Given the description of an element on the screen output the (x, y) to click on. 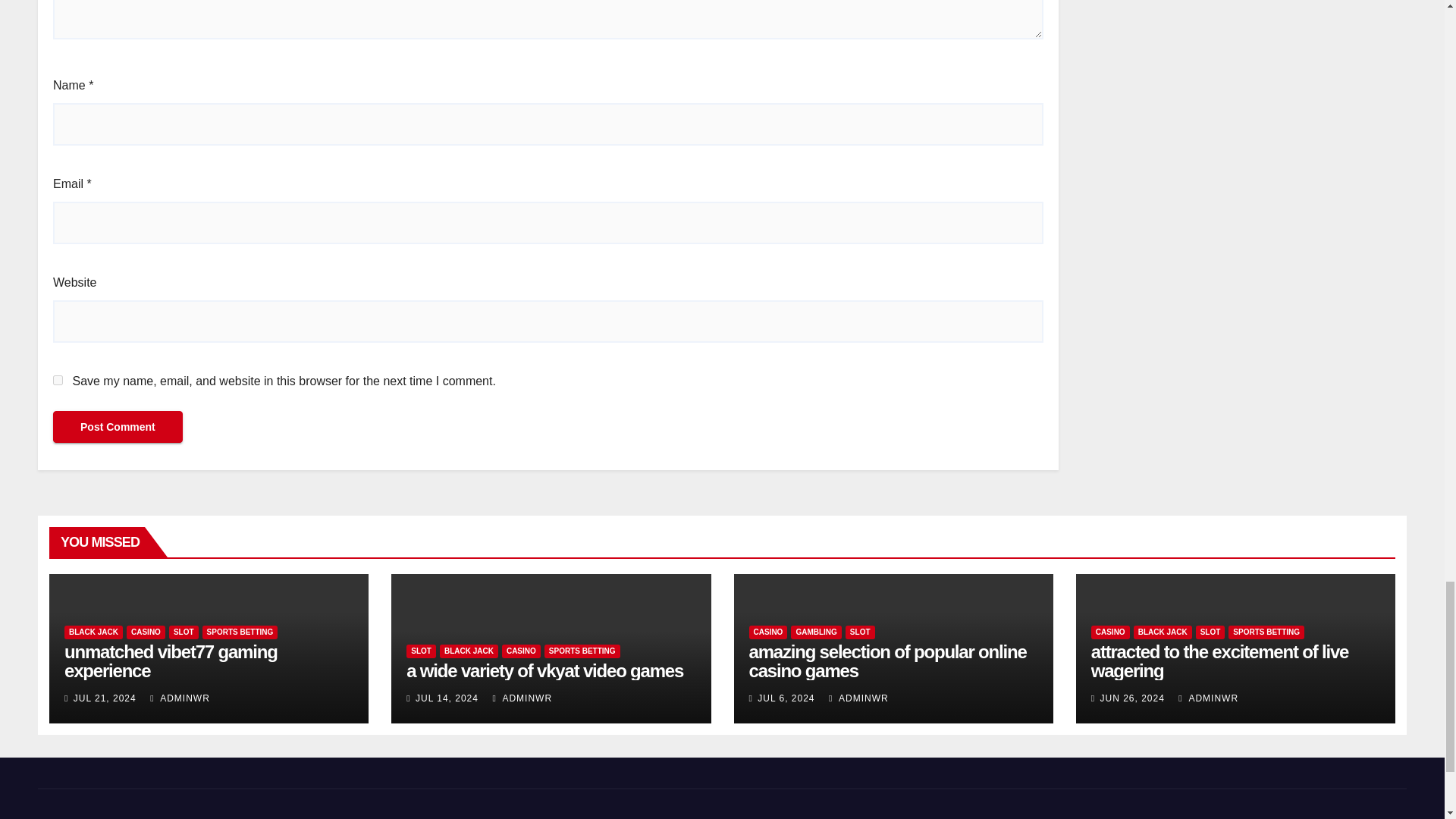
Permalink to: a wide variety of vkyat video games (544, 670)
Permalink to: unmatched vibet77 gaming experience (171, 660)
yes (57, 379)
Post Comment (117, 427)
